Given the description of an element on the screen output the (x, y) to click on. 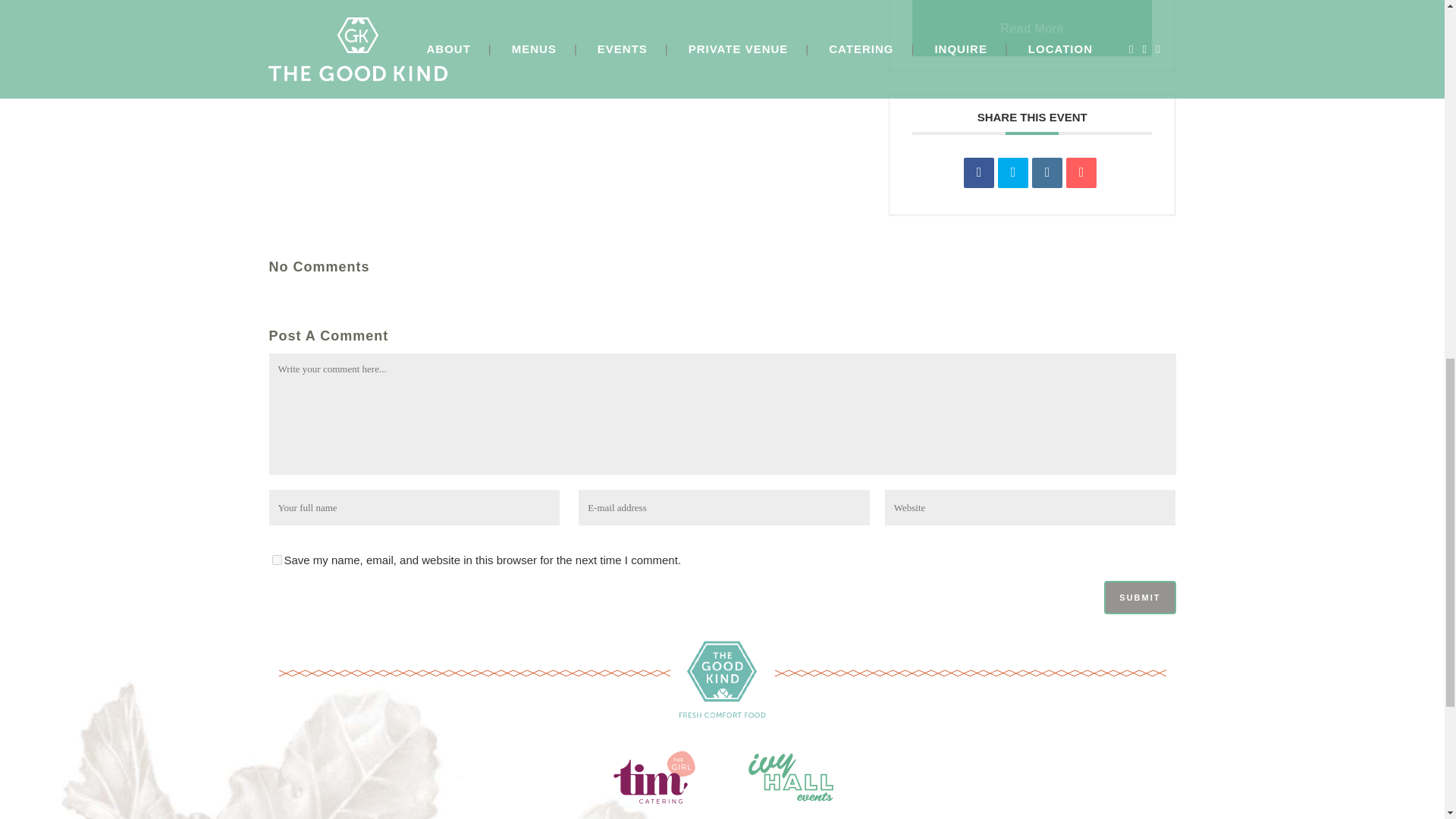
Share on Facebook (978, 173)
Email (1080, 173)
Tweet (1012, 173)
tim-logos-footer-tim-the-gril-07-10-19 (653, 769)
yes (275, 560)
Read More (1032, 28)
Linkedin (1047, 173)
tim-logos-footer-ivy-hall-07-10-19 (790, 769)
Submit (1138, 597)
